Given the description of an element on the screen output the (x, y) to click on. 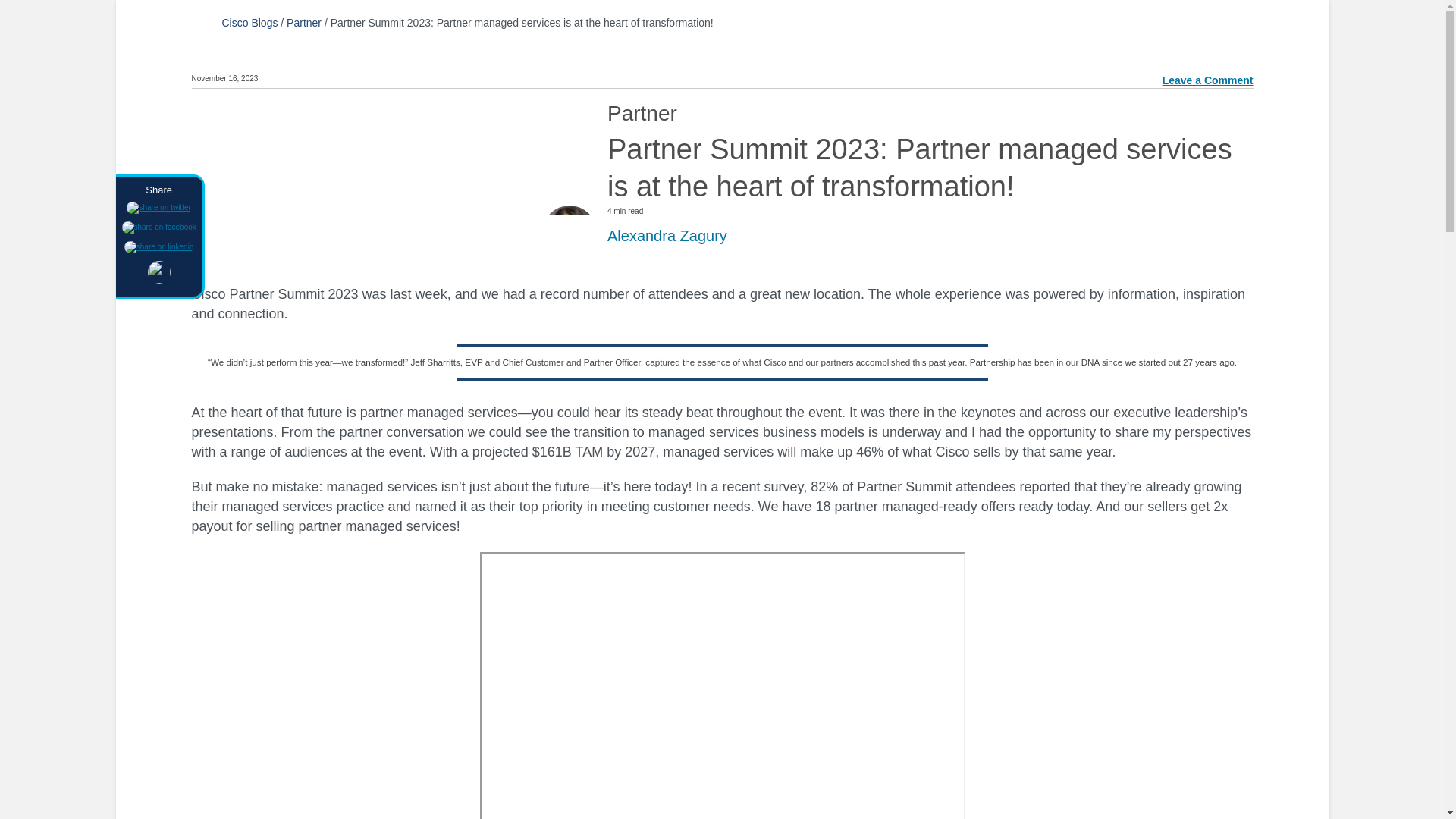
Cisco Blogs (249, 22)
Posts by Alexandra Zagury (666, 235)
Alexandra Zagury (666, 235)
Partner (303, 22)
